Given the description of an element on the screen output the (x, y) to click on. 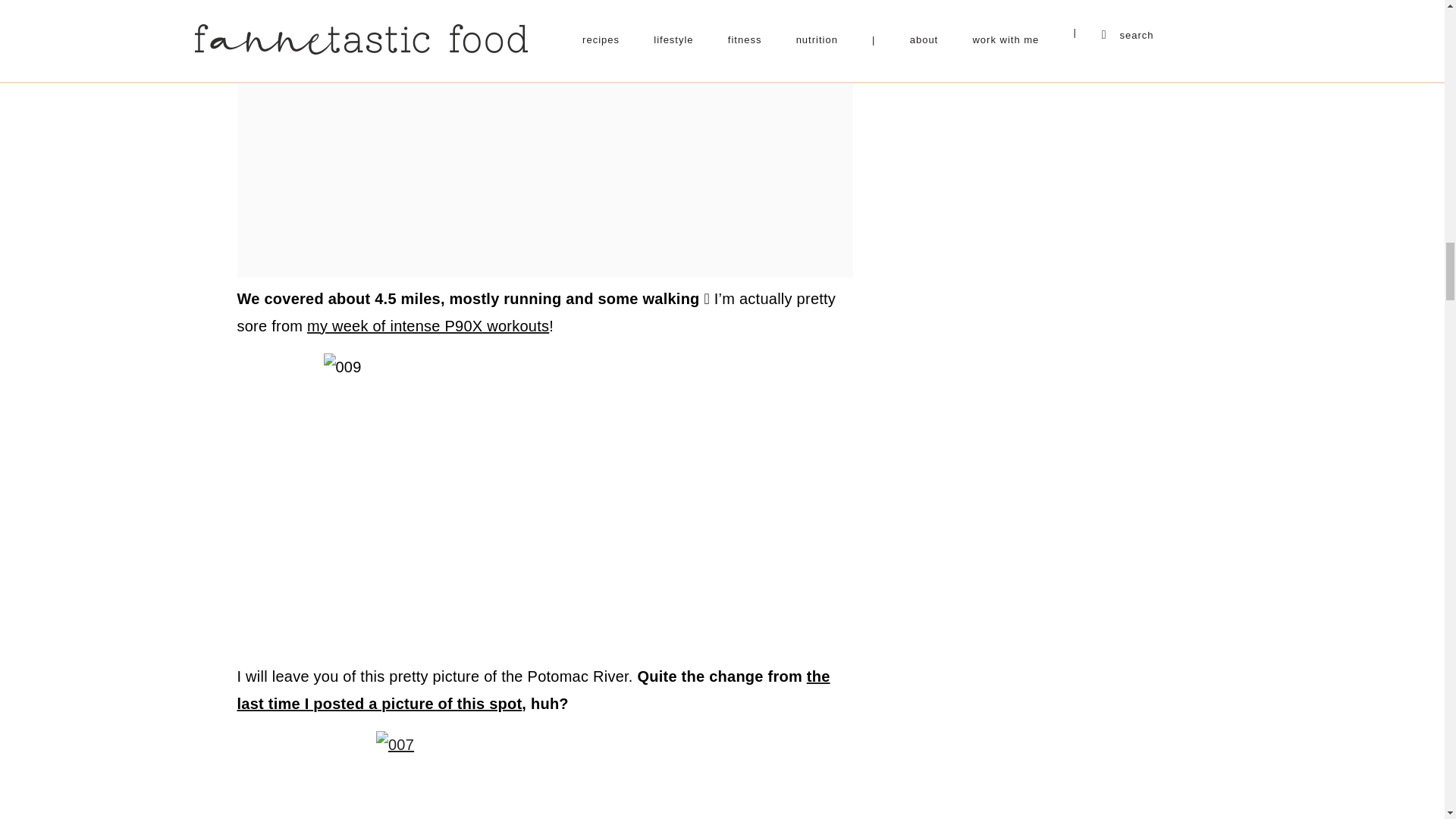
my week of intense P90X workouts (427, 325)
007 (544, 775)
the last time I posted a picture of this spot (532, 689)
009 (544, 500)
